Given the description of an element on the screen output the (x, y) to click on. 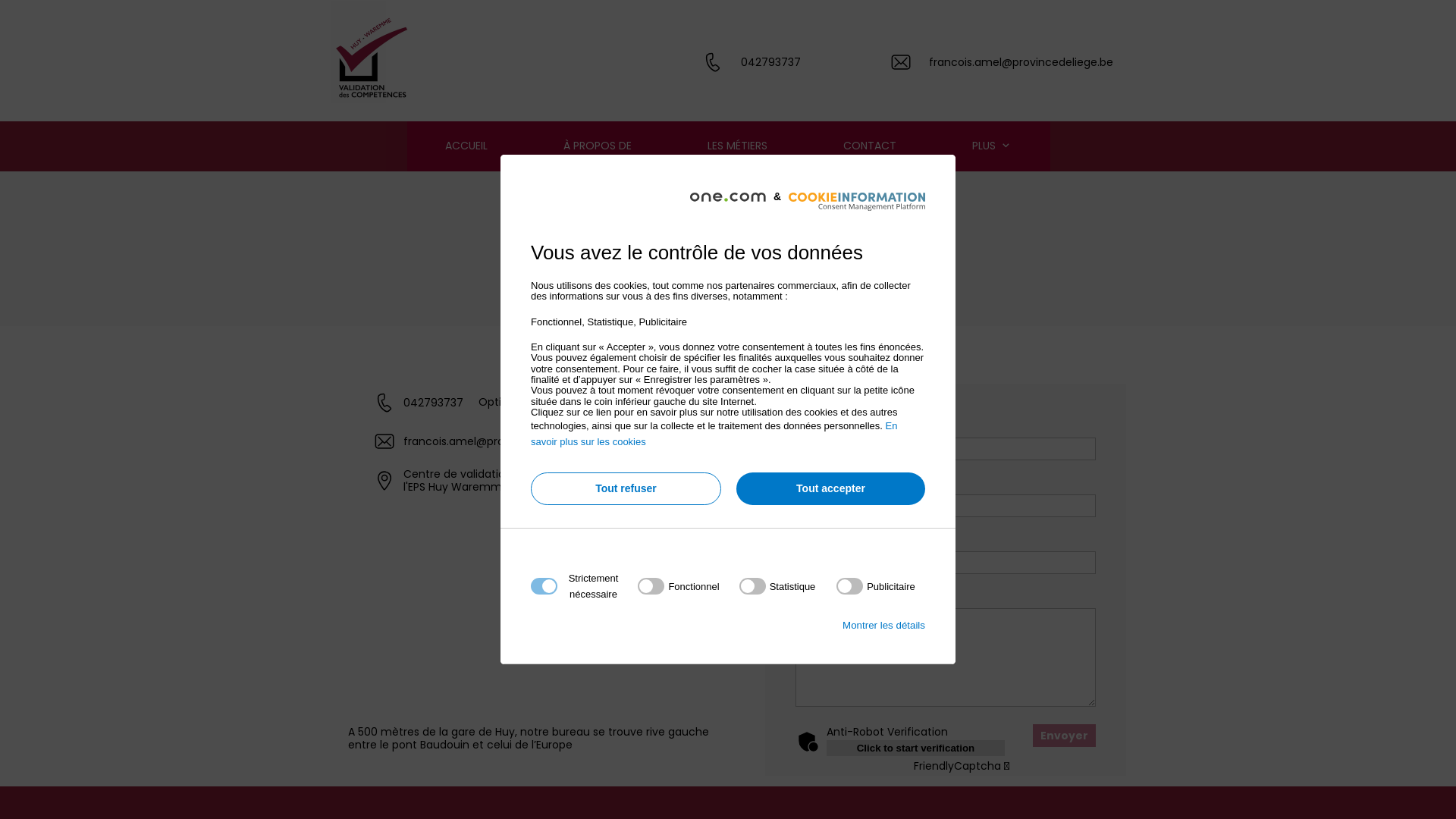
Tout refuser Element type: text (625, 488)
Tout accepter Element type: text (830, 488)
francois.amel@provincedeliege.be Element type: text (1020, 61)
on Element type: text (677, 586)
ACCUEIL Element type: text (466, 146)
PLUS Element type: text (992, 146)
042793737 Element type: text (433, 402)
En savoir plus sur les cookies Element type: text (713, 433)
CONTACT Element type: text (869, 146)
on Element type: text (777, 586)
on Element type: text (875, 586)
Envoyer Element type: text (1063, 735)
Fonctionnel Element type: text (723, 769)
Click to start verification Element type: text (915, 748)
042793737 Element type: text (770, 61)
francois.amel@provincedeliege.be Element type: text (495, 440)
